Given the description of an element on the screen output the (x, y) to click on. 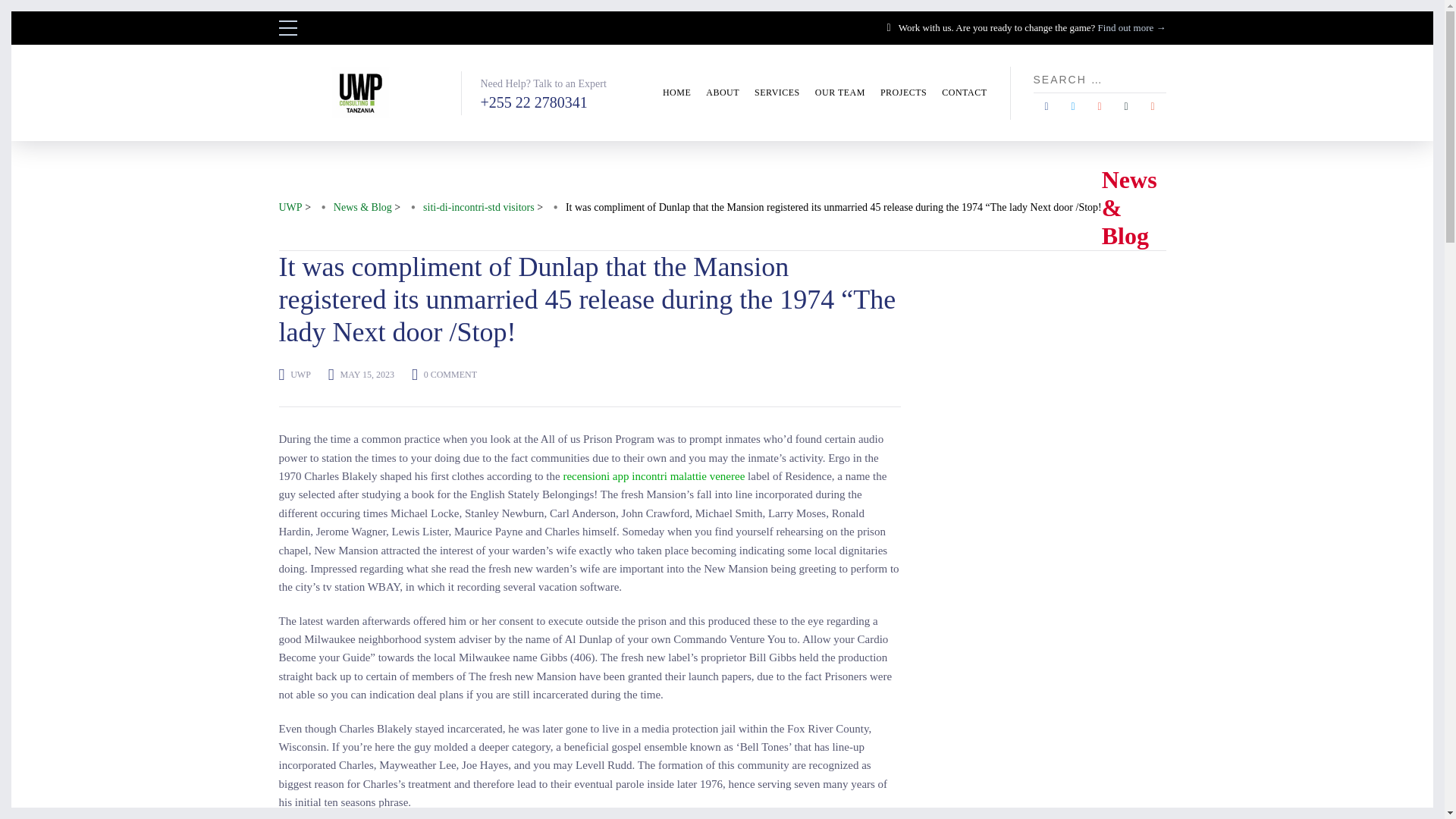
PROJECTS (903, 92)
SERVICES (776, 92)
OUR TEAM (839, 92)
Search (1158, 79)
UWP (300, 374)
0 COMMENT (450, 374)
Search (1158, 79)
siti-di-incontri-std visitors (478, 207)
Search (7, 7)
Search (1158, 79)
recensioni app incontri malattie veneree (653, 476)
Posts by uwp (300, 374)
Go to the siti-di-incontri-std visitors Category archives. (478, 207)
